Given the description of an element on the screen output the (x, y) to click on. 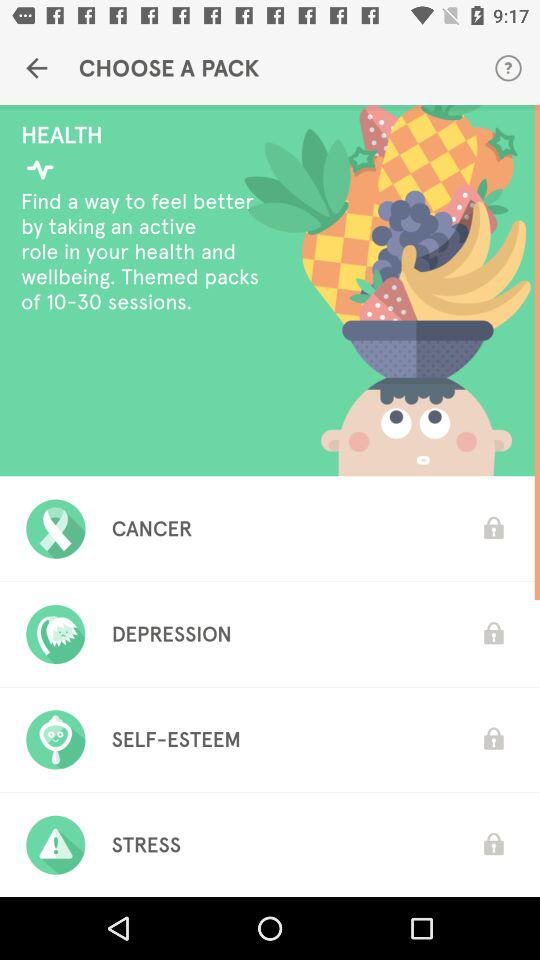
open item next to the choose a pack (508, 67)
